Given the description of an element on the screen output the (x, y) to click on. 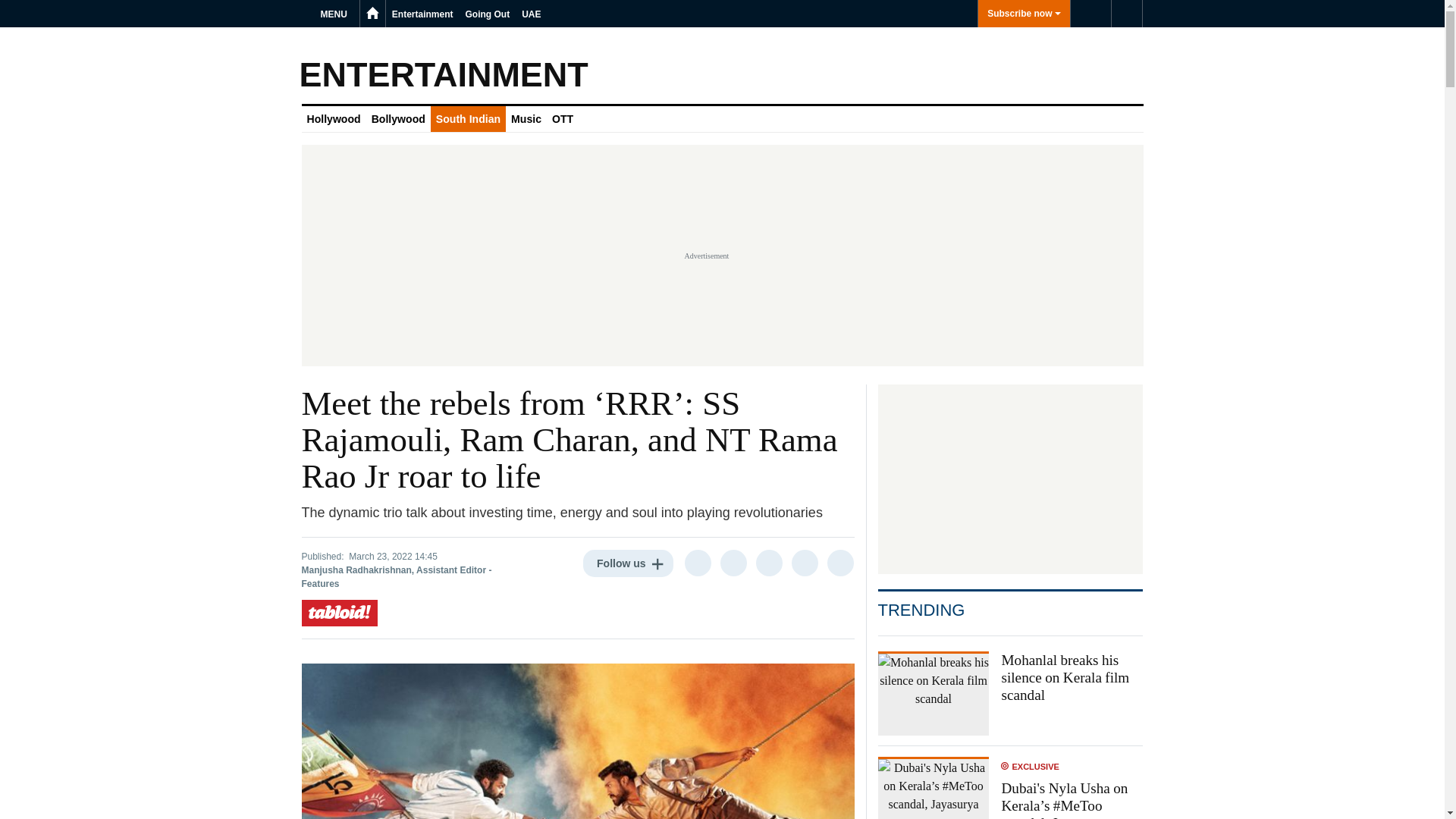
Subscribe now (1024, 13)
Going Out (488, 13)
Entertainment (422, 13)
MENU (336, 13)
UAE (531, 13)
